Given the description of an element on the screen output the (x, y) to click on. 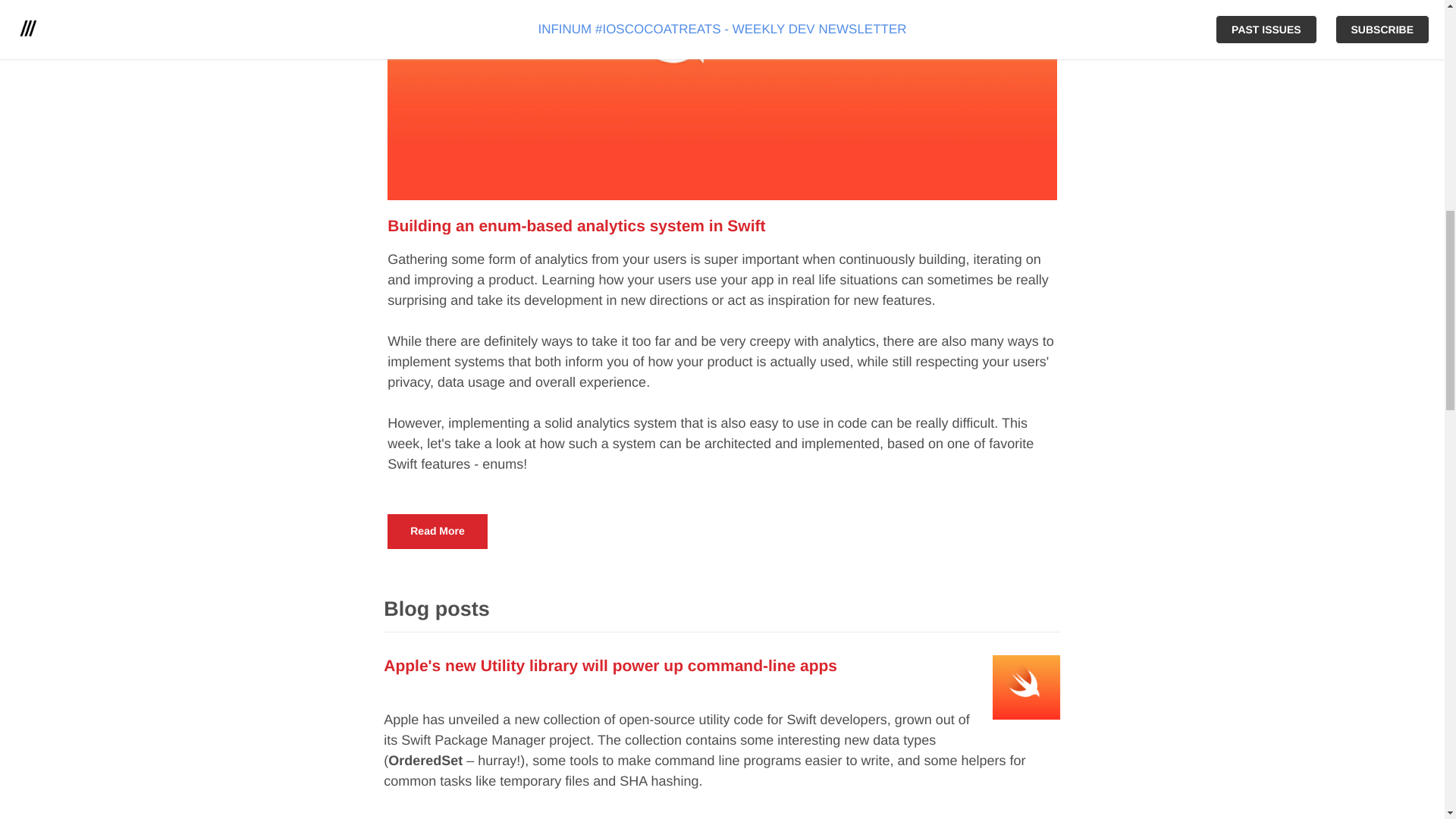
Apple's new Utility library will power up command-line apps (610, 665)
Building an enum-based analytics system in Swift (576, 226)
Read More (437, 531)
